Given the description of an element on the screen output the (x, y) to click on. 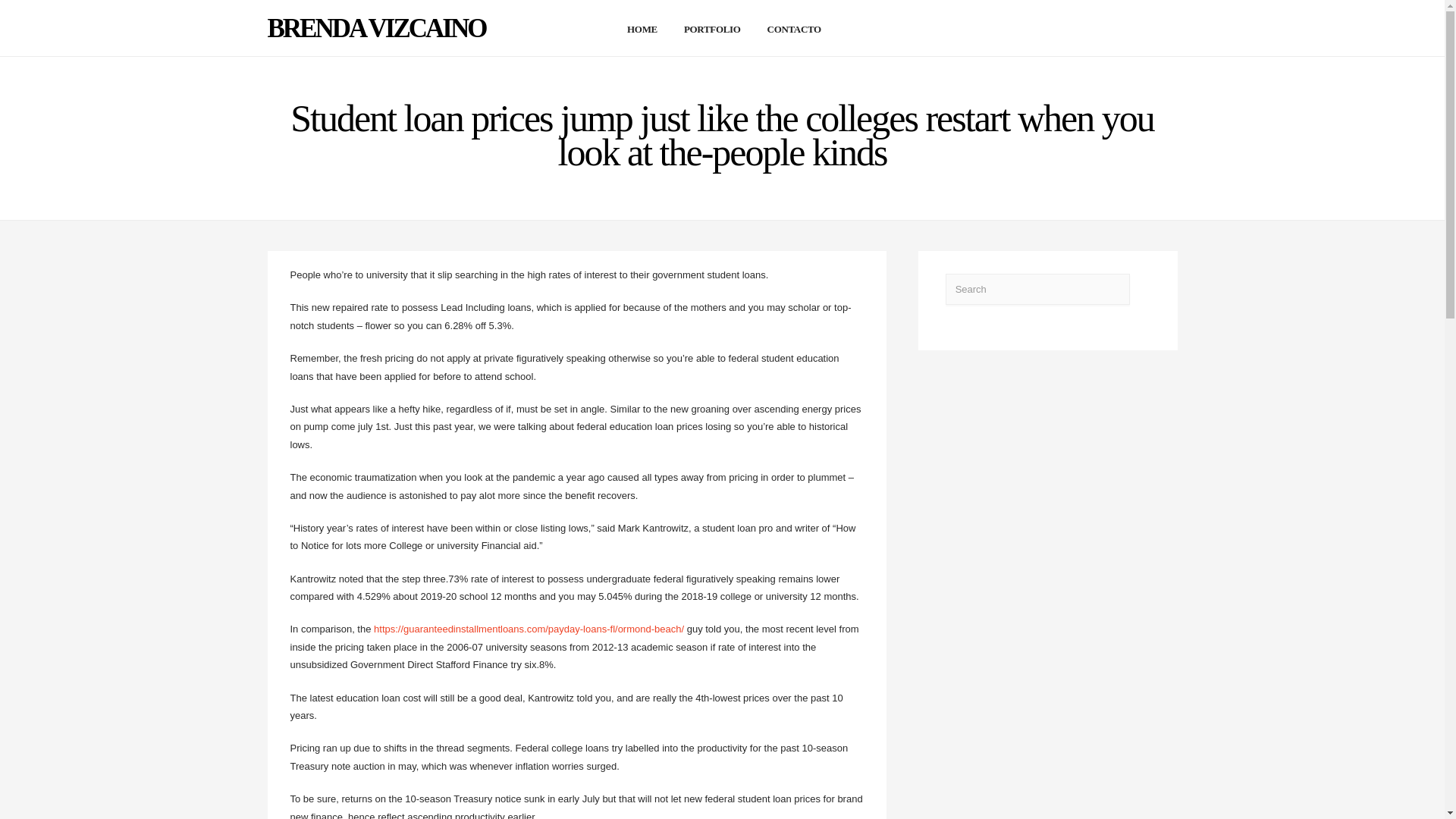
Search (1036, 288)
HOME (639, 29)
BRENDA VIZCAINO (375, 28)
PORTFOLIO (710, 29)
CONTACTO (792, 29)
